Given the description of an element on the screen output the (x, y) to click on. 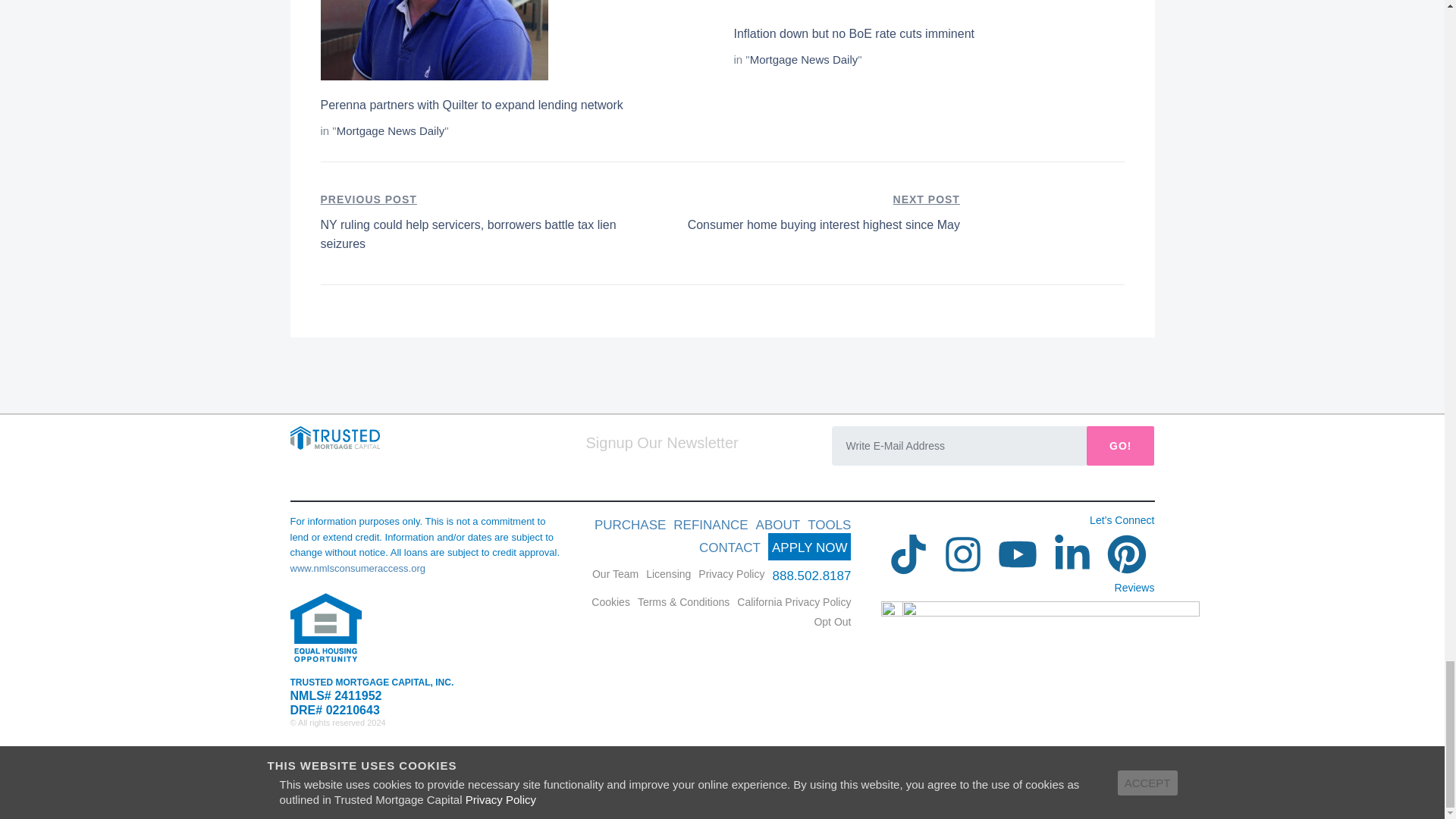
Mortgage News Daily (804, 59)
www.nmlsconsumeraccess.org (804, 213)
Licensing (357, 568)
Mortgage News Daily (668, 573)
APPLY NOW (390, 130)
Perenna partners with Quilter to expand lending network (809, 546)
PURCHASE (471, 104)
Privacy Policy (629, 524)
CONTACT (731, 573)
Inflation down but no BoE rate cuts imminent (729, 547)
Our Team (854, 33)
888.502.8187 (615, 573)
TOOLS (810, 575)
